Given the description of an element on the screen output the (x, y) to click on. 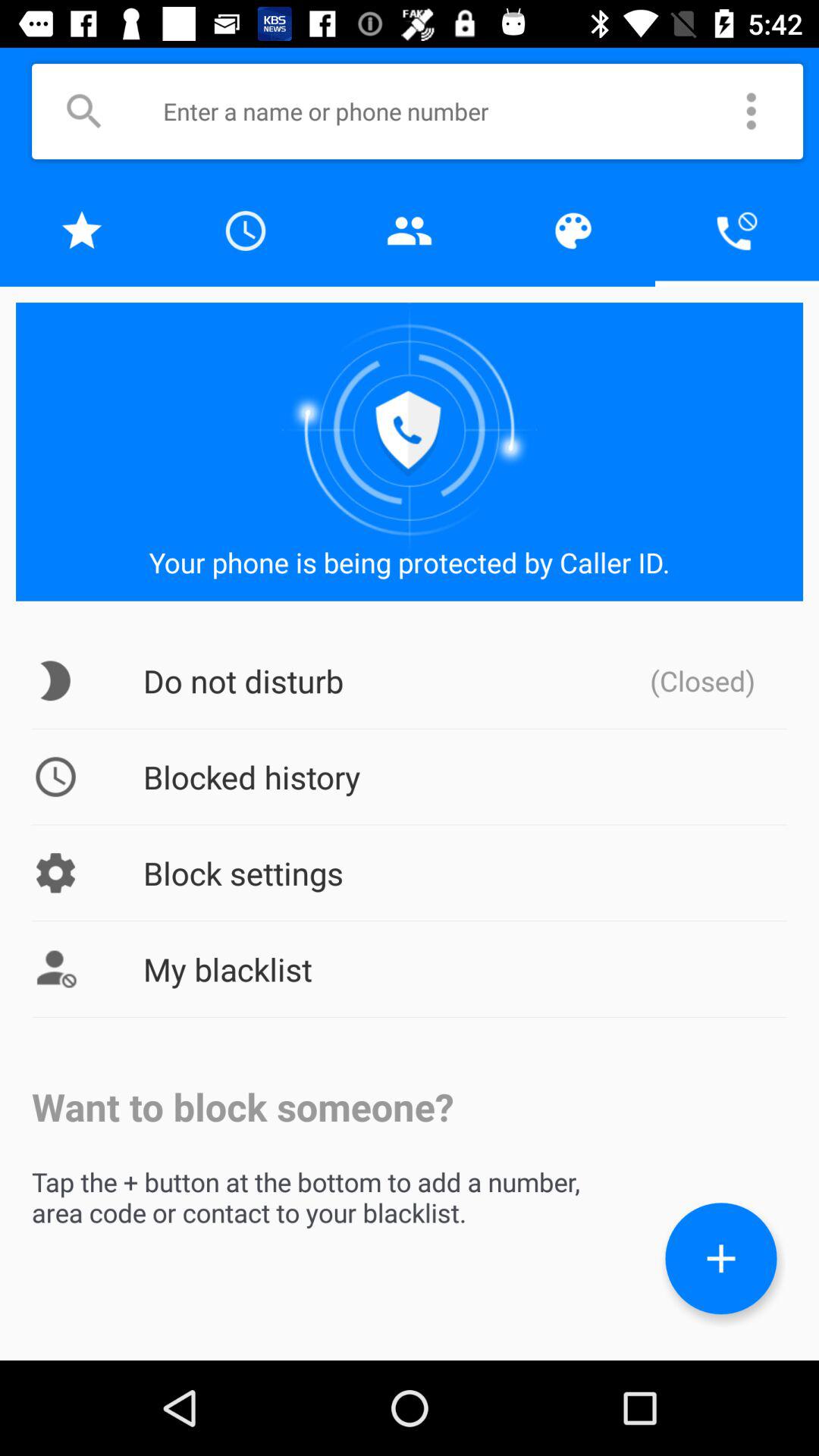
click call button (737, 230)
